Given the description of an element on the screen output the (x, y) to click on. 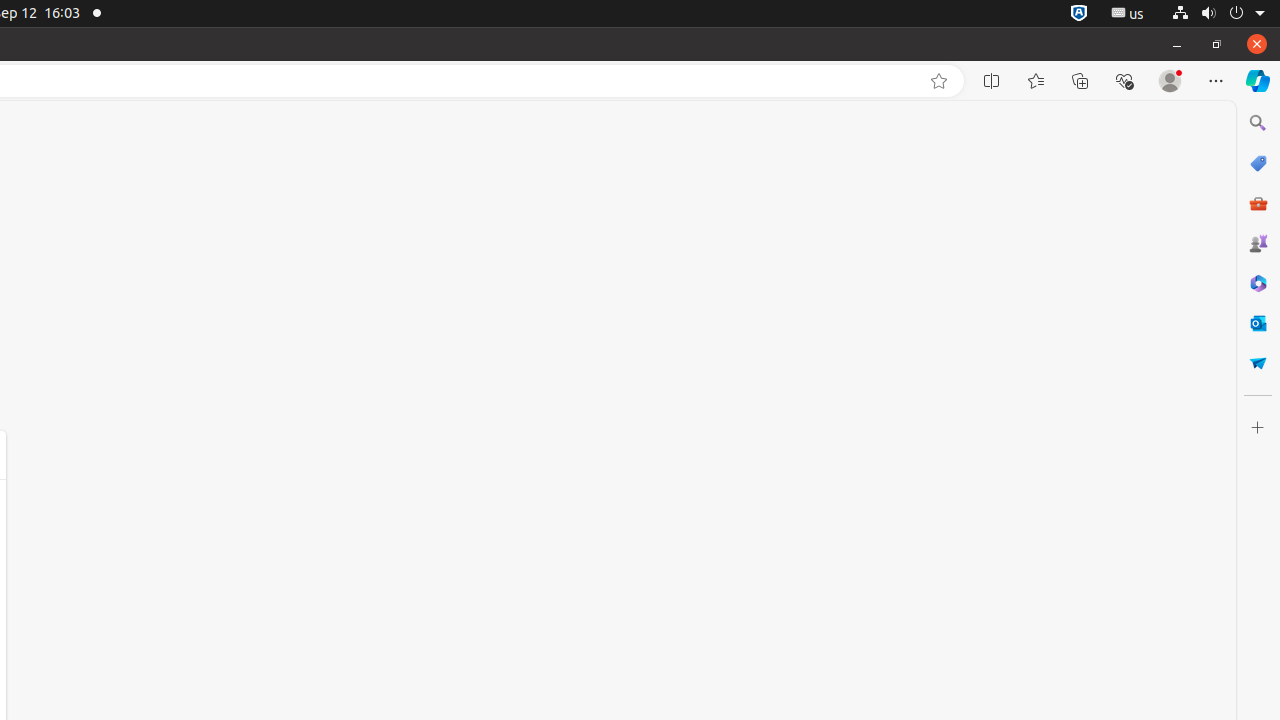
Tools Element type: push-button (1258, 202)
Profile 1 Profile, Please sign in Element type: push-button (1170, 81)
Favorites Element type: push-button (1036, 81)
Games Element type: push-button (1258, 243)
Add this page to favorites (Ctrl+D) Element type: push-button (939, 81)
